Given the description of an element on the screen output the (x, y) to click on. 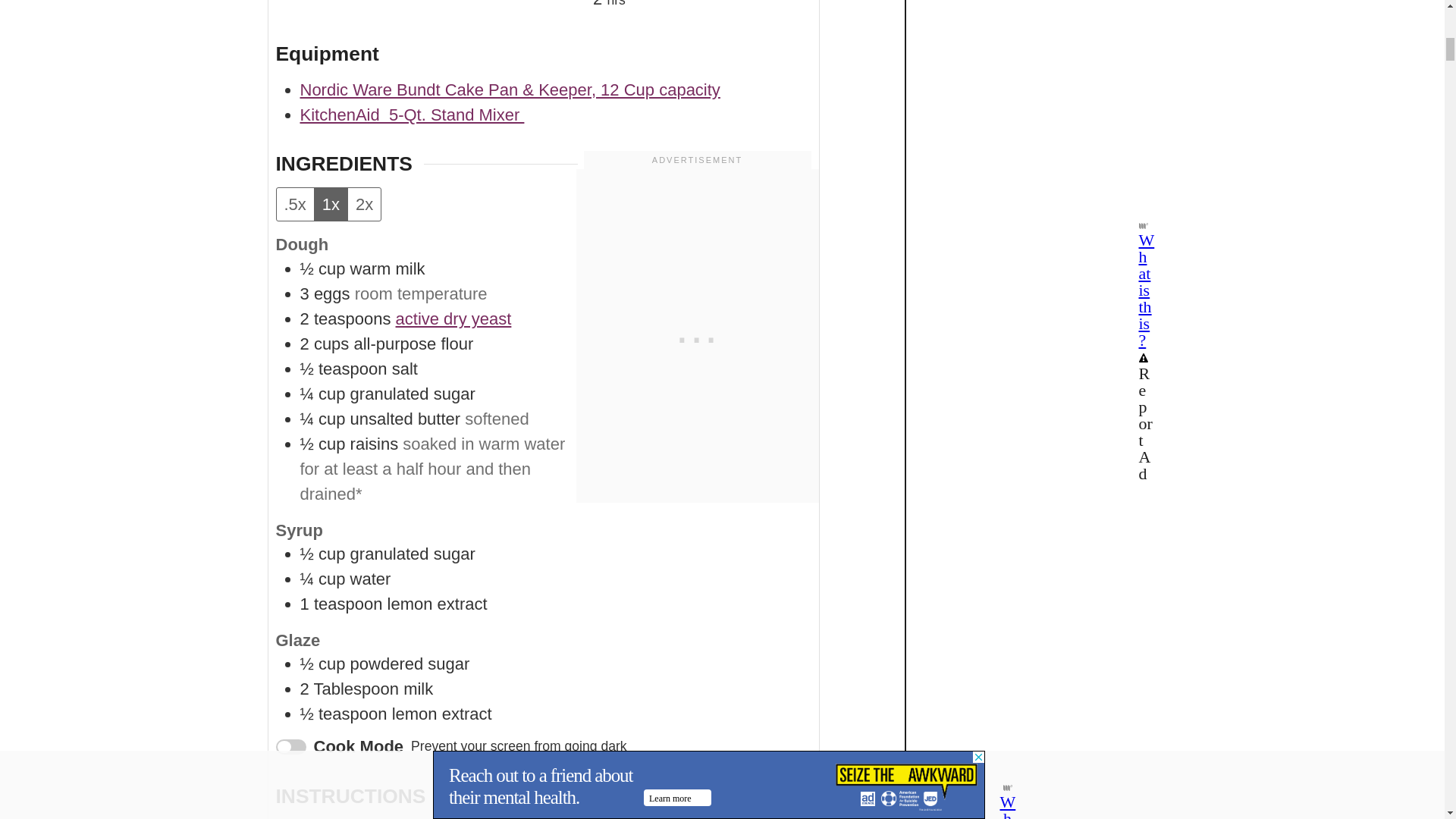
KitchenAid  5-Qt. Stand Mixer  (411, 114)
.5x (294, 204)
